Given the description of an element on the screen output the (x, y) to click on. 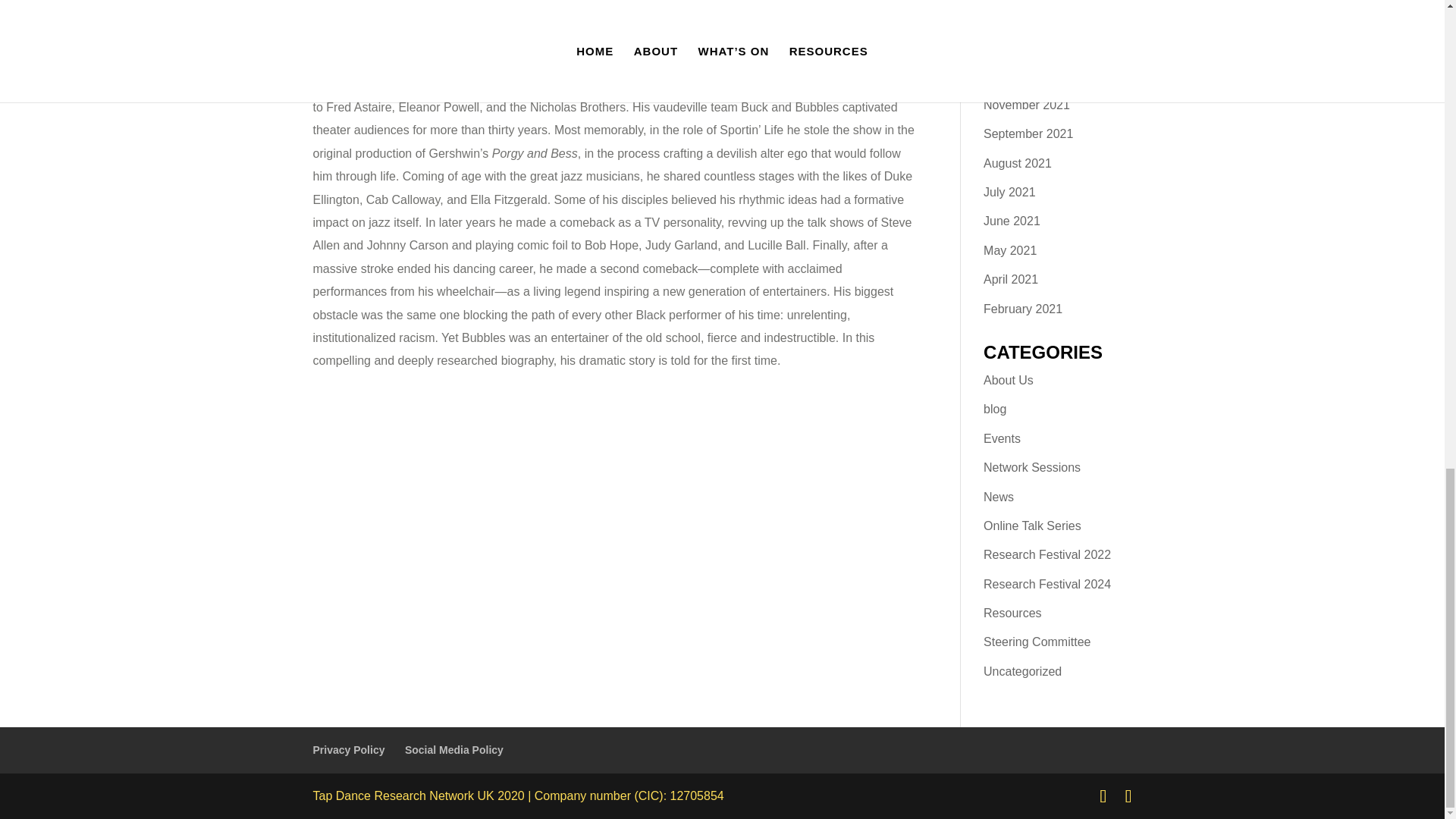
August 2021 (1017, 163)
May 2021 (1010, 250)
Events (1002, 438)
January 2023 (1020, 17)
blog (995, 408)
Putting tap dance research in the spotlight (1032, 525)
Network Sessions (1032, 467)
News from Tap Dance Research Network UK (998, 496)
June 2021 (1012, 220)
